Given the description of an element on the screen output the (x, y) to click on. 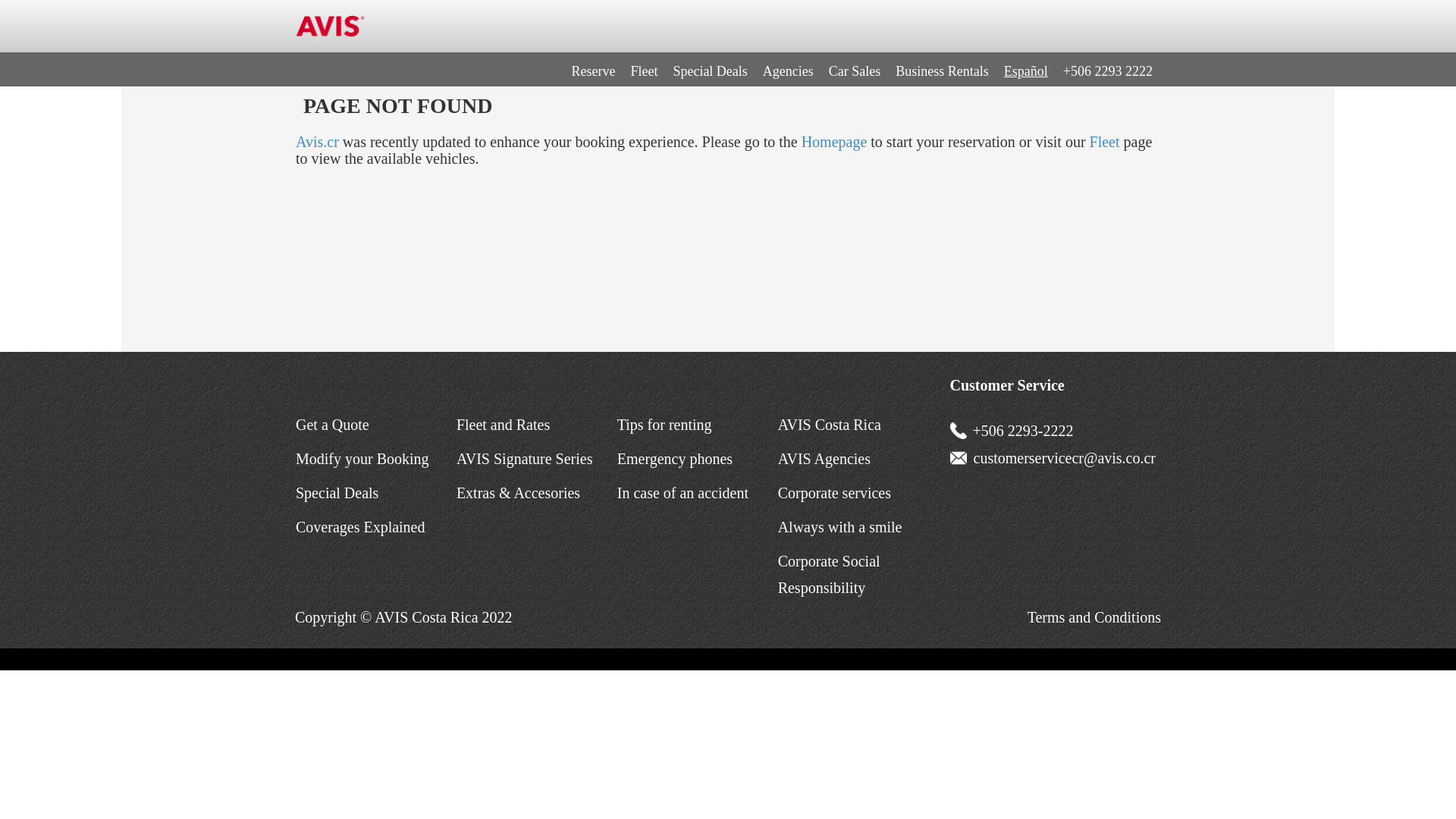
Emergency phones (674, 458)
In case of an accident (682, 492)
Reserve (593, 71)
Agencies (788, 71)
Special Deals (336, 492)
Tips for renting (664, 424)
AVIS Costa Rica (828, 424)
Always with a smile (839, 526)
Get a Quote (332, 424)
Terms and Conditions (1093, 617)
